Given the description of an element on the screen output the (x, y) to click on. 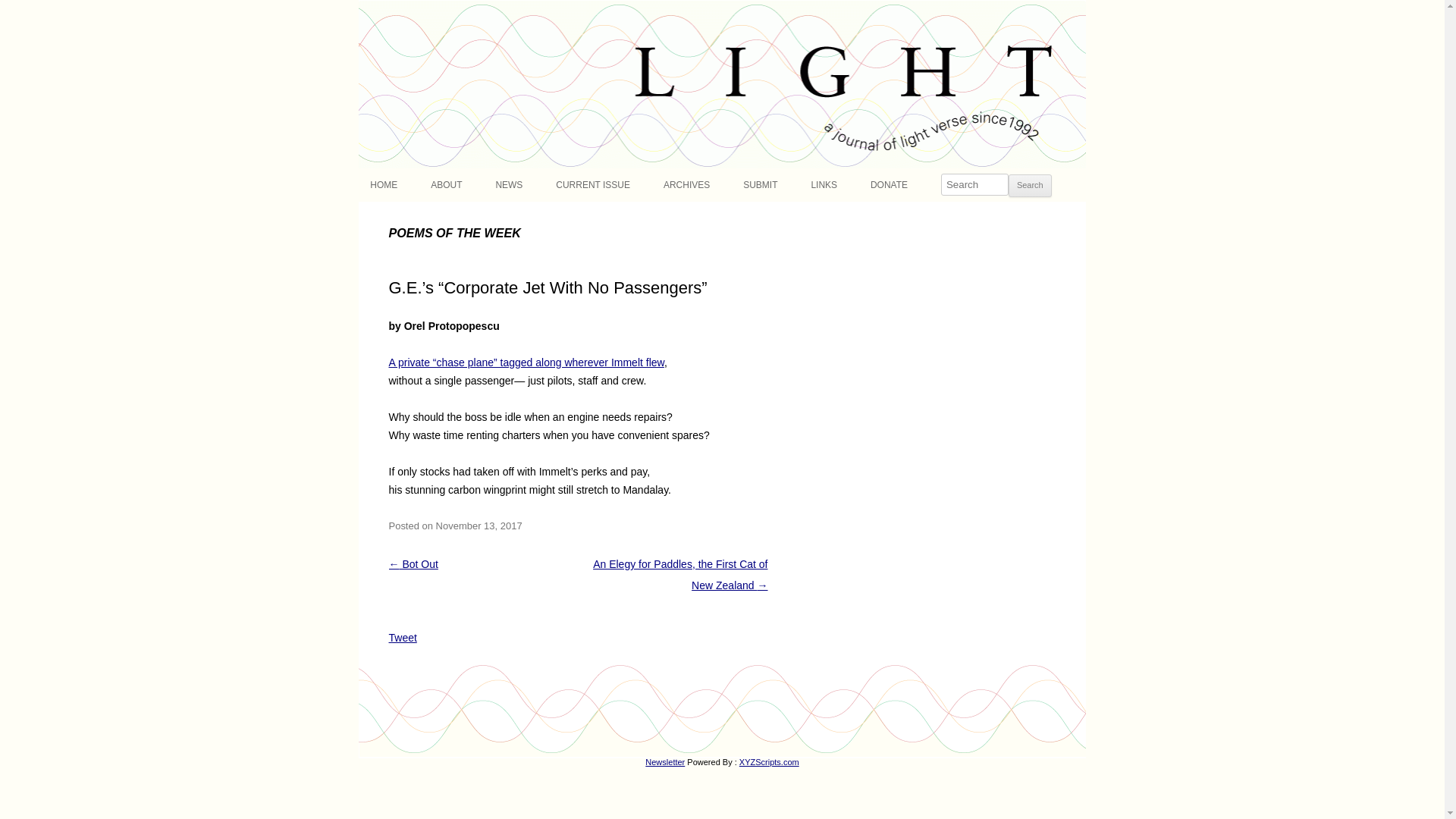
Search (1030, 185)
ARCHIVES (686, 184)
Search (1030, 185)
SUBMIT (759, 184)
CURRENT ISSUE (593, 184)
DONATE (888, 184)
Light (382, 9)
Light (382, 9)
